Given the description of an element on the screen output the (x, y) to click on. 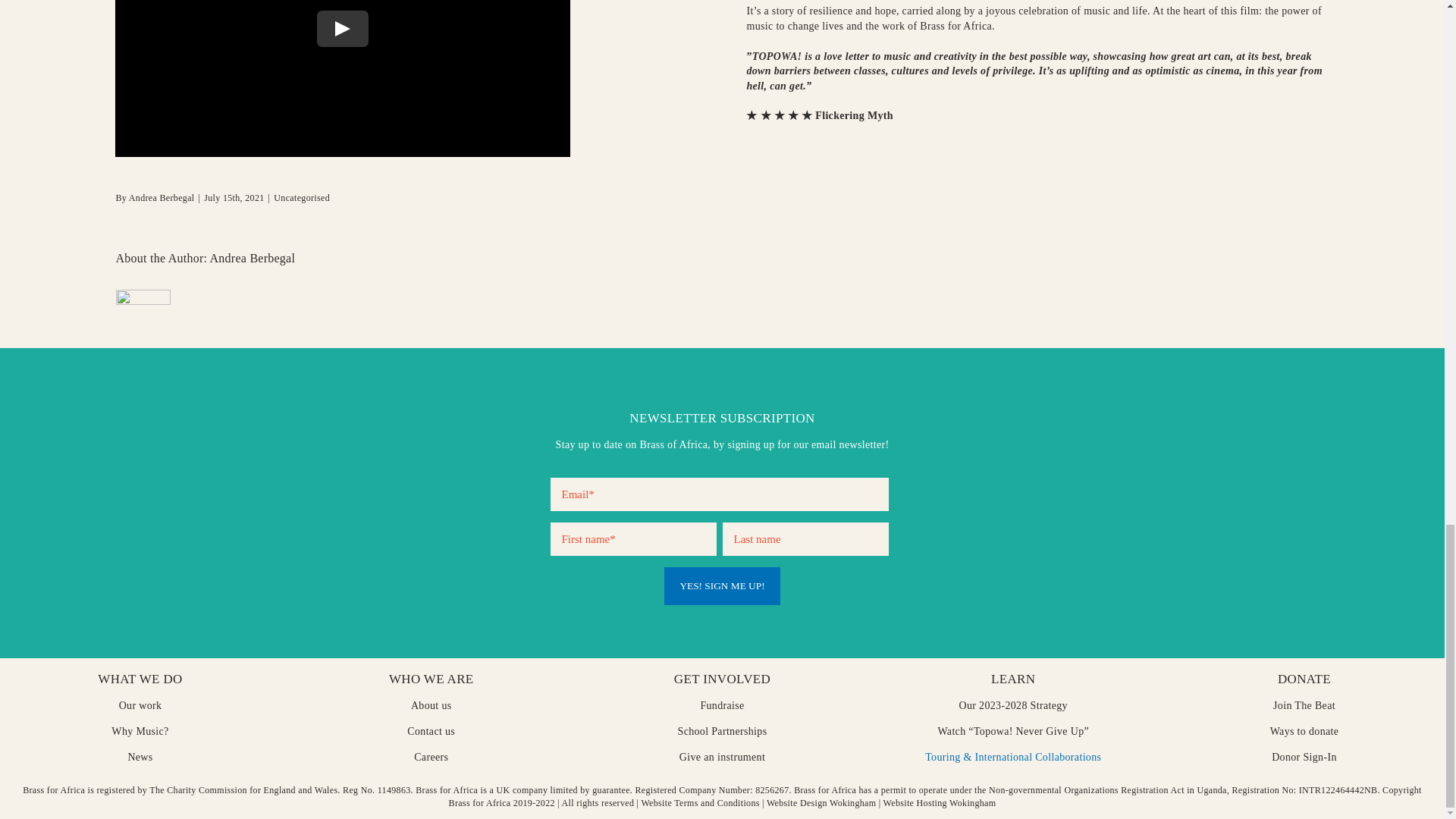
Andrea Berbegal (162, 197)
Uncategorised (301, 197)
Flickering Myth (852, 115)
YES! SIGN ME UP! (720, 586)
Posts by Andrea Berbegal (252, 257)
YouTube video player 1 (342, 78)
Our work (140, 705)
Andrea Berbegal (252, 257)
YES! SIGN ME UP! (720, 586)
Posts by Andrea Berbegal (162, 197)
Play (342, 28)
